Given the description of an element on the screen output the (x, y) to click on. 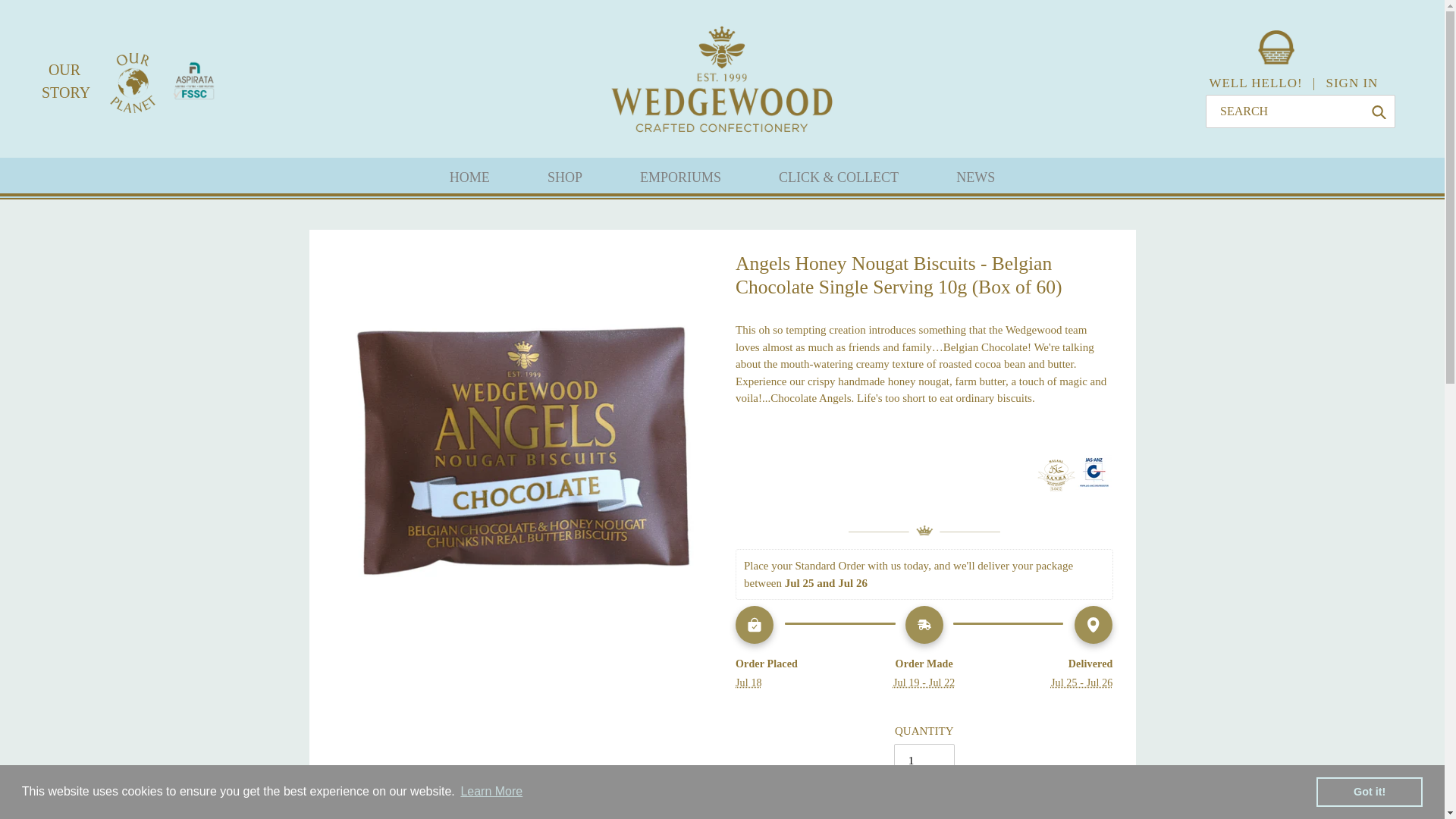
SHOP (564, 178)
HOME (469, 178)
Cart (1276, 60)
1 (924, 760)
SIGN IN (1350, 83)
EMPORIUMS (680, 178)
Learn More (491, 791)
EMPORIUMS (680, 178)
NEWS (975, 178)
Submit (1378, 111)
SHOP (564, 178)
Got it! (1369, 791)
HOME (469, 178)
